Given the description of an element on the screen output the (x, y) to click on. 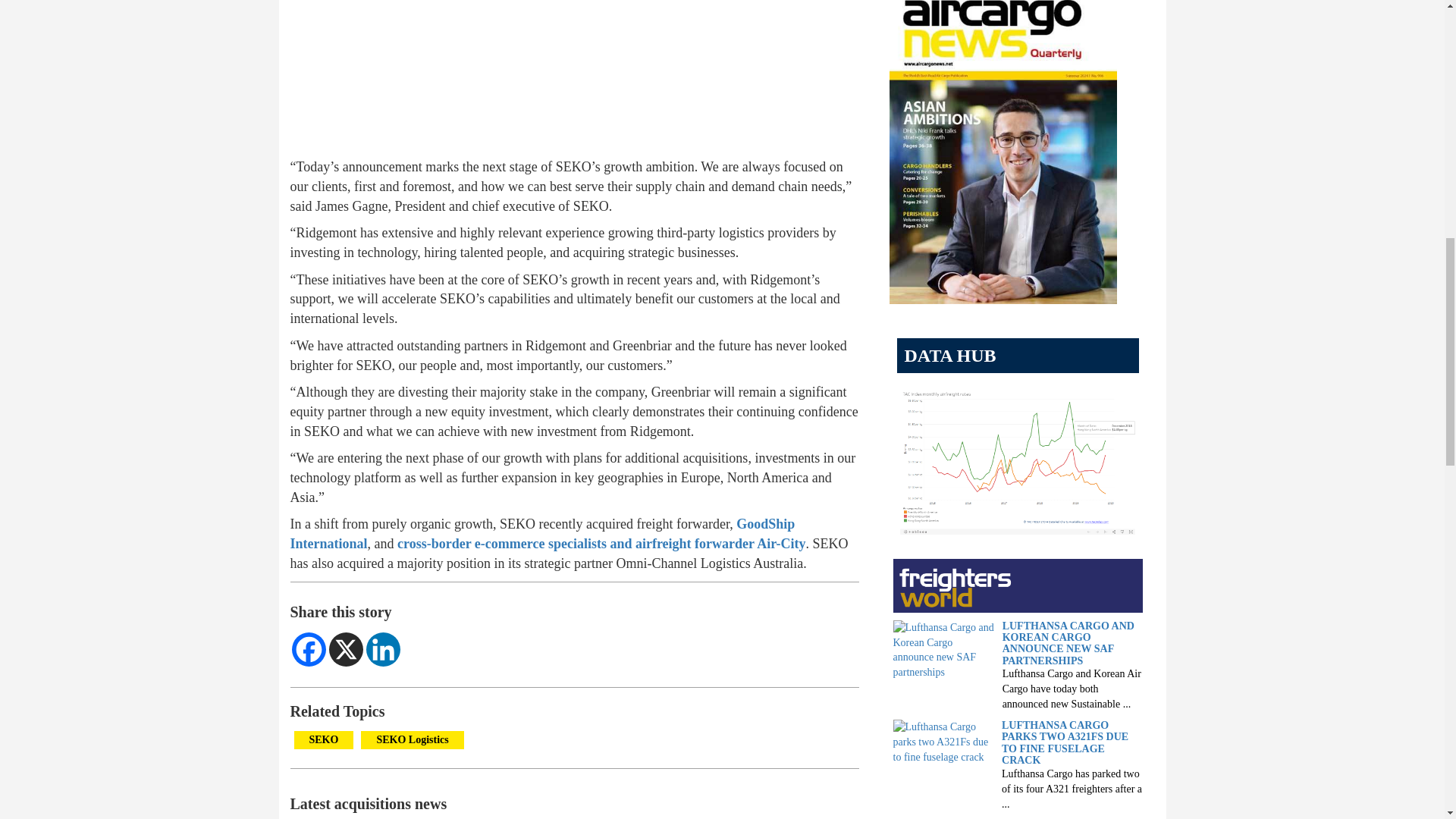
X (345, 649)
Lufthansa Cargo parks two A321Fs due to fine fuselage crack (943, 740)
Linkedin (381, 649)
Facebook (307, 649)
